Given the description of an element on the screen output the (x, y) to click on. 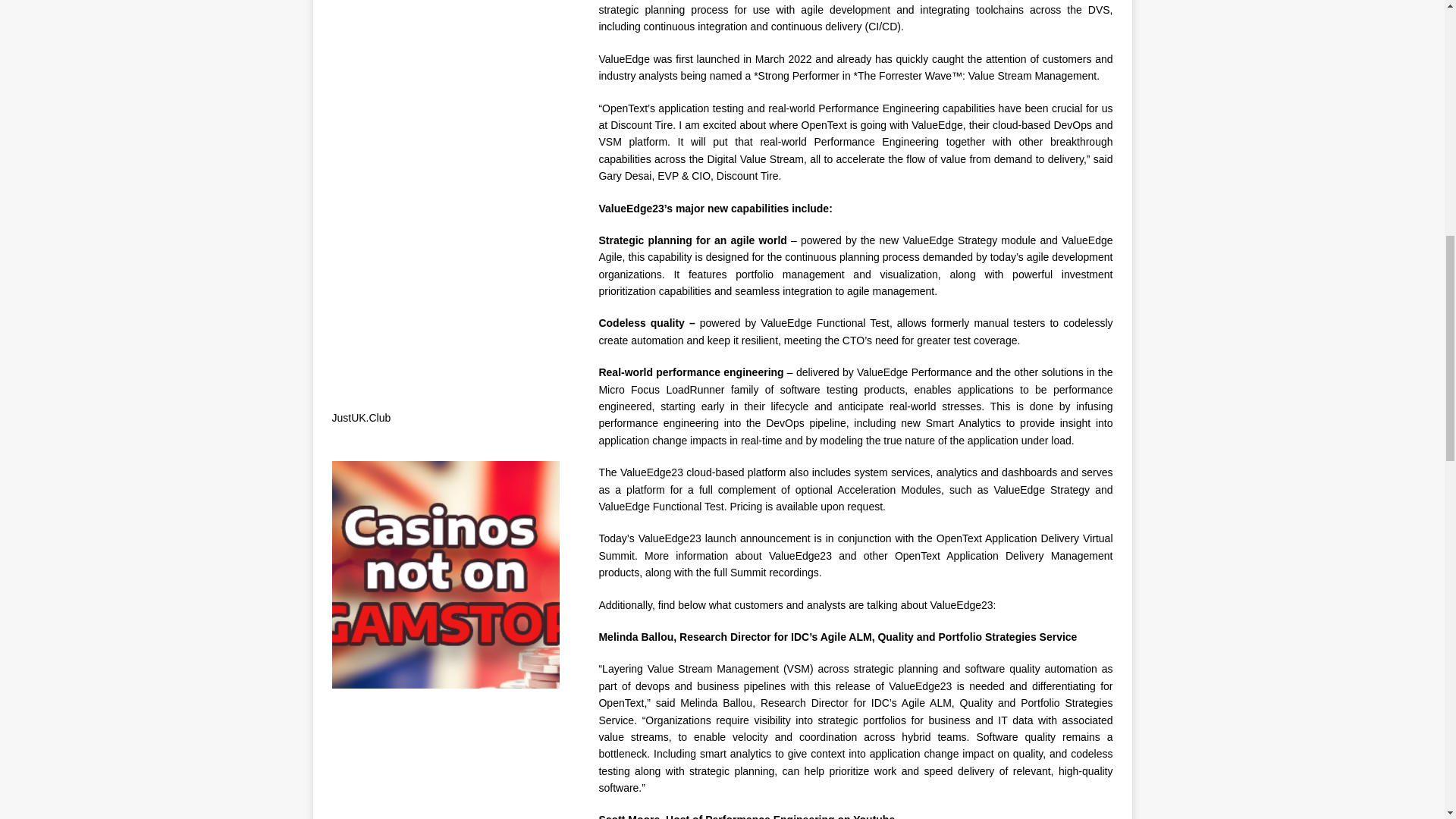
3rd party ad content (455, 295)
3rd party ad content (455, 90)
3rd party ad content (455, 770)
